Given the description of an element on the screen output the (x, y) to click on. 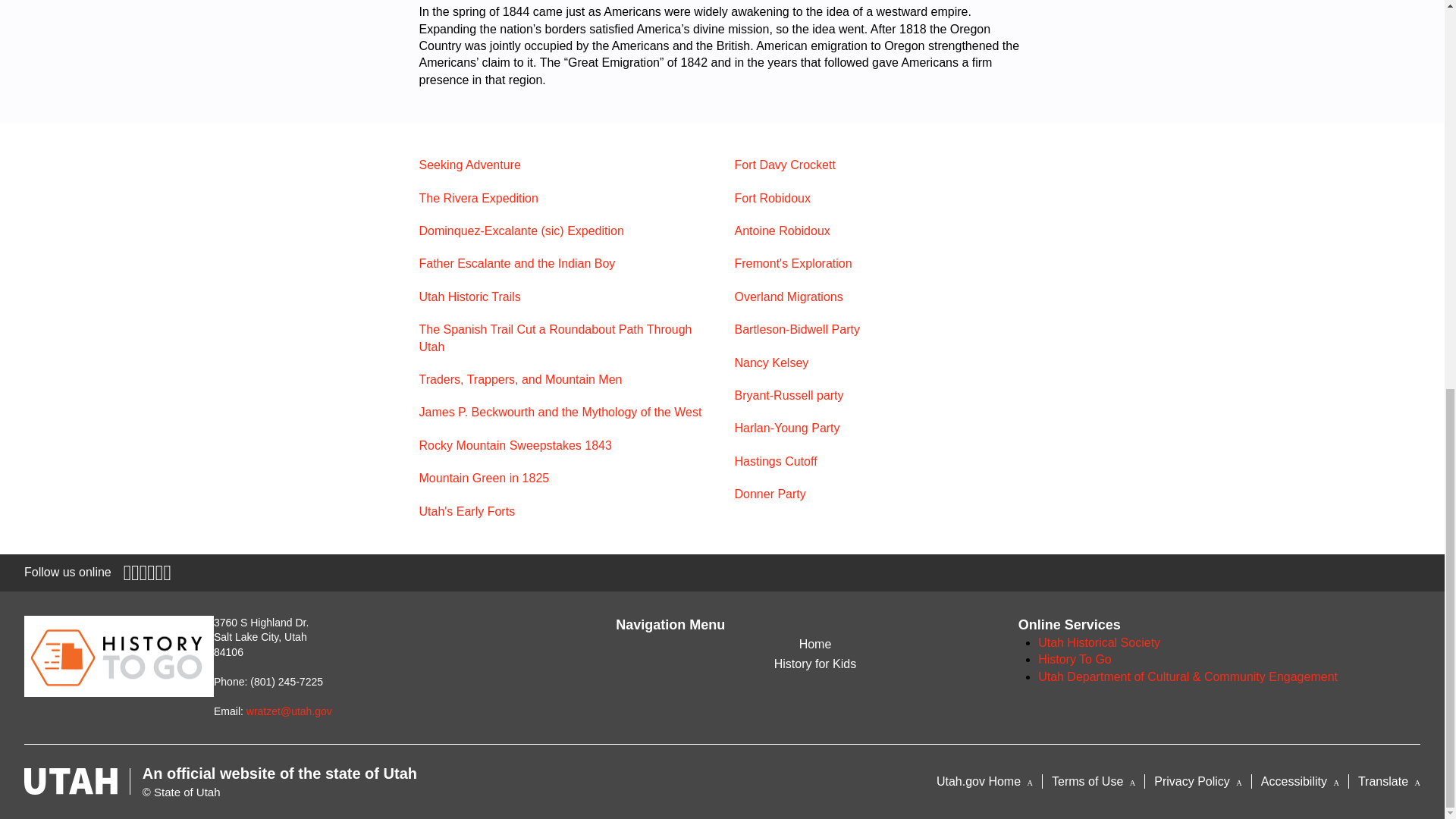
Traders, Trappers, and Mountain Men (520, 379)
Seeking Adventure (469, 164)
Nancy Kelsey (770, 362)
Harlan-Young Party (786, 427)
The Rivera Expedition (478, 197)
Fort Davy Crockett (783, 164)
Rocky Mountain Sweepstakes 1843 (515, 445)
James P. Beckwourth and the Mythology of the West (560, 411)
The Spanish Trail Cut a Roundabout Path Through Utah (555, 337)
Fremont's Exploration (792, 263)
